Given the description of an element on the screen output the (x, y) to click on. 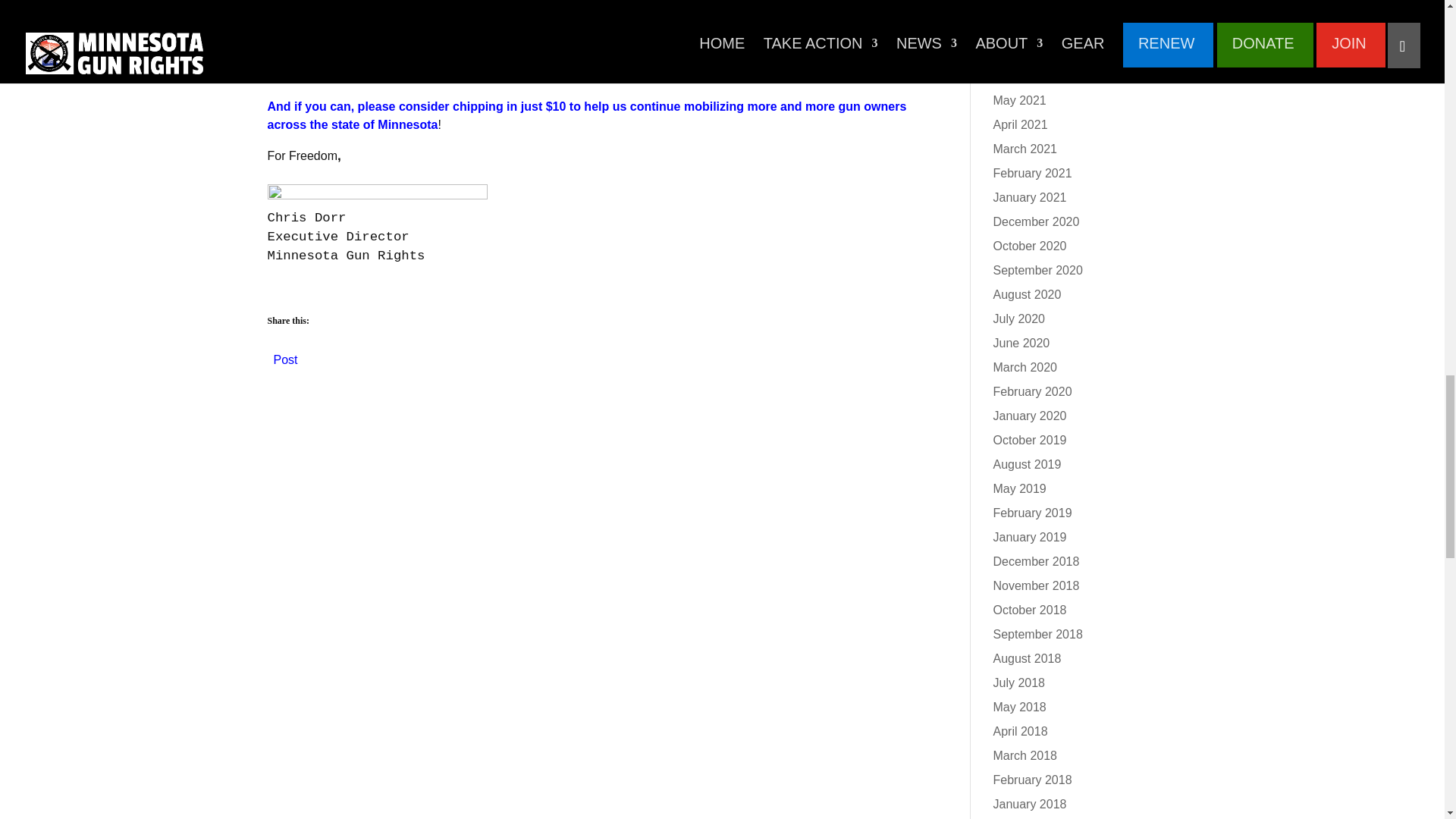
Post (285, 356)
